Given the description of an element on the screen output the (x, y) to click on. 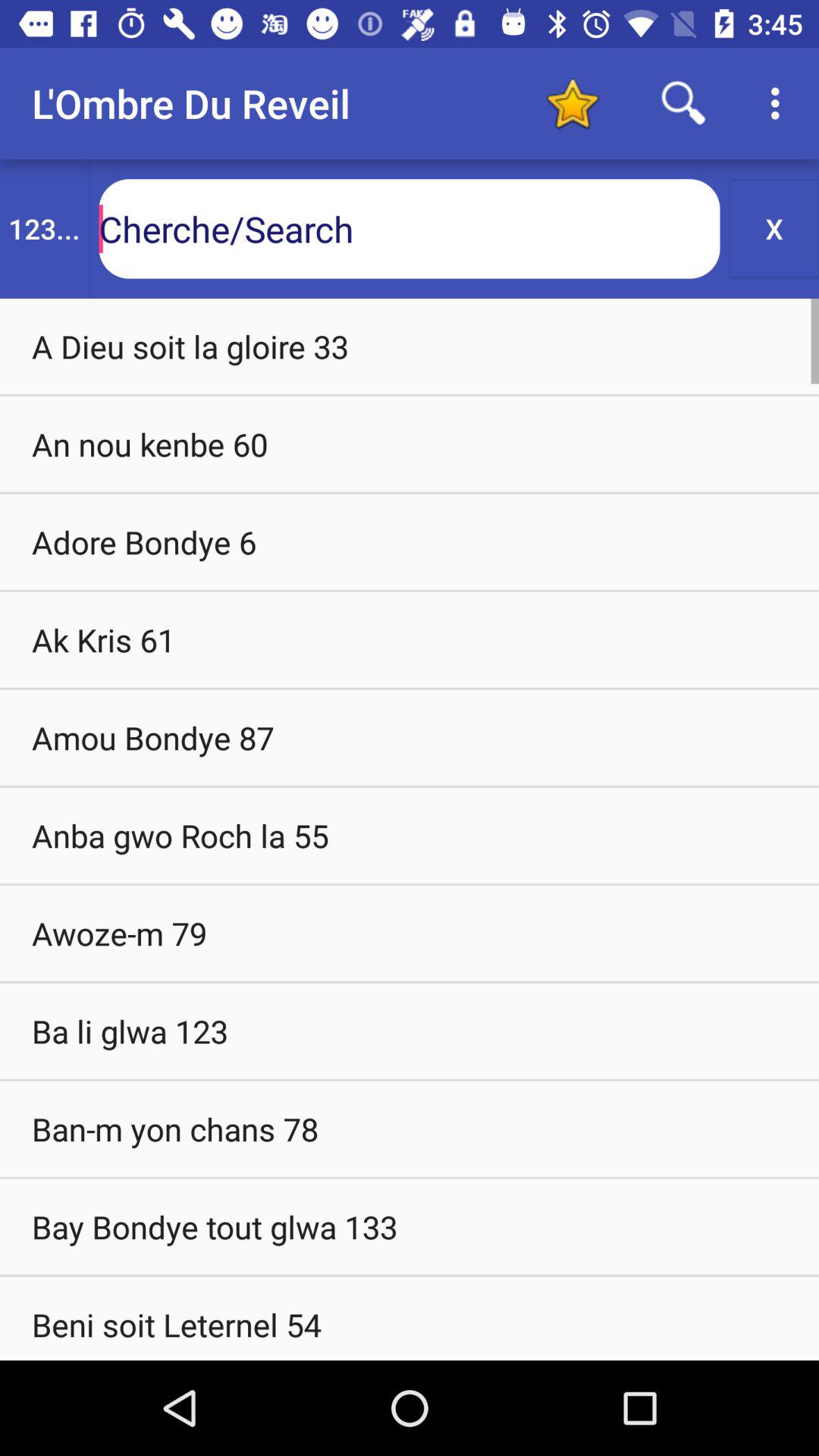
turn on icon above a dieu soit (44, 228)
